Given the description of an element on the screen output the (x, y) to click on. 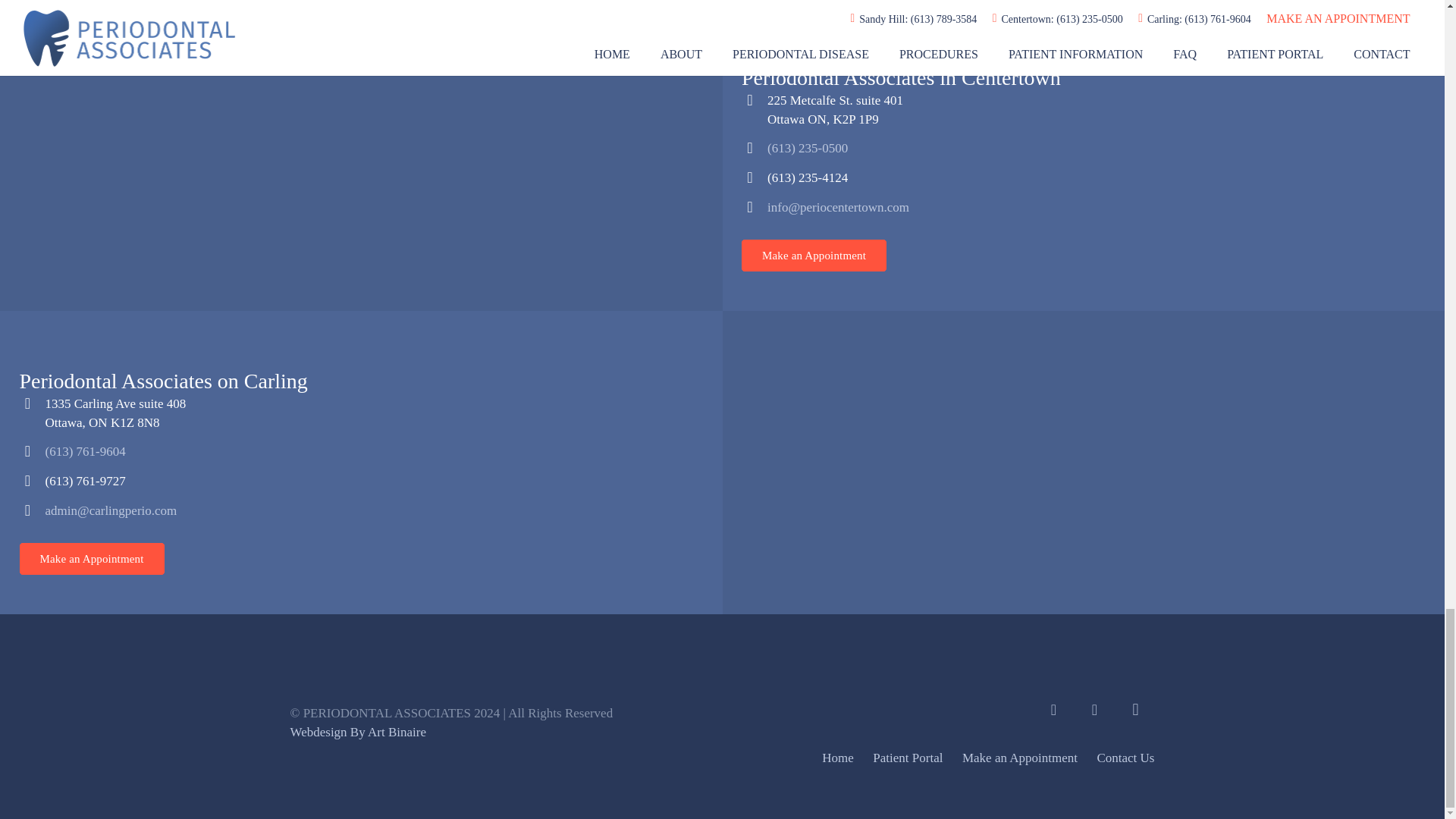
Instagram (1135, 709)
Email (1094, 709)
Facebook (1052, 709)
